Given the description of an element on the screen output the (x, y) to click on. 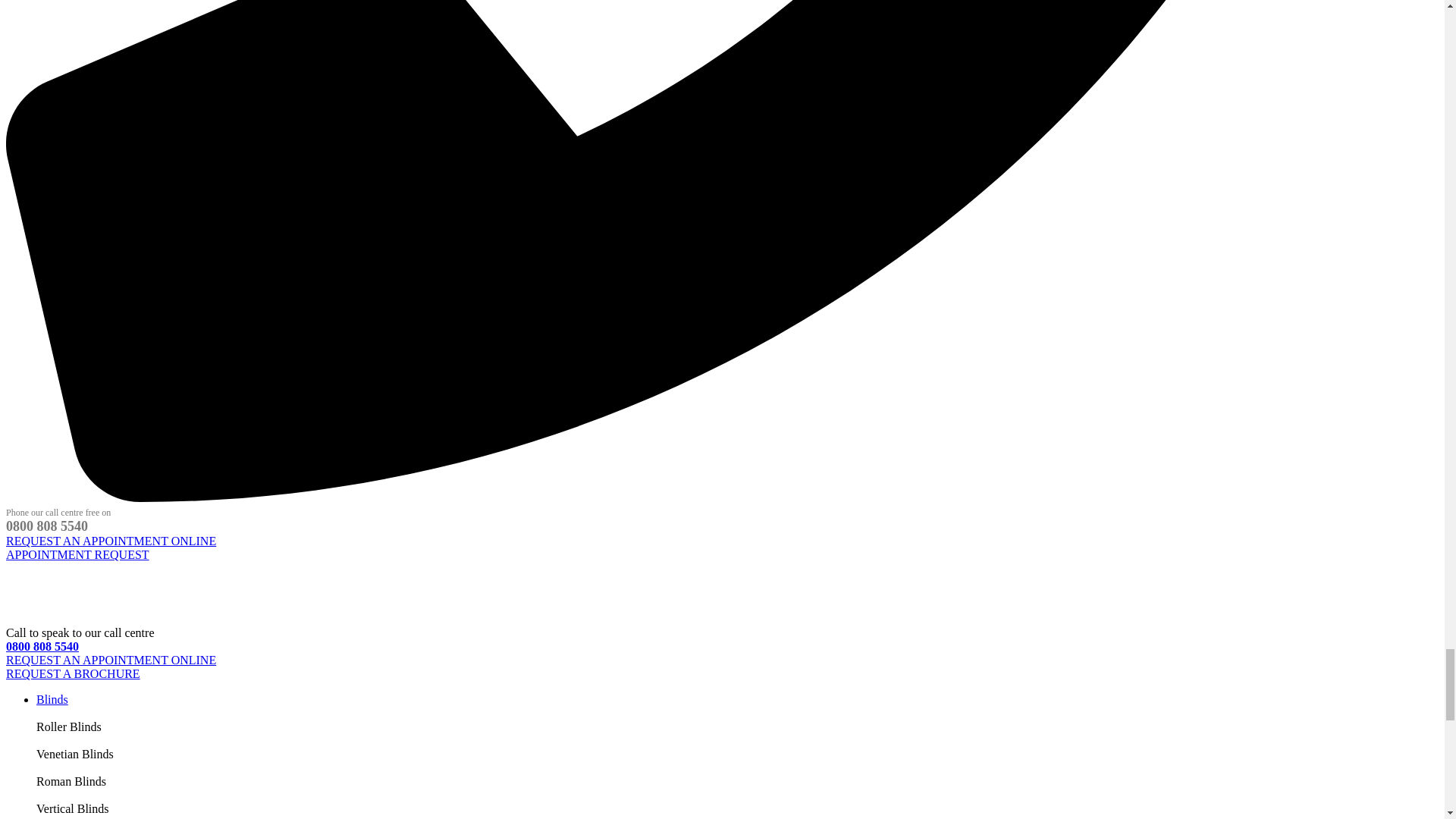
APPOINTMENT REQUEST (77, 554)
0800 808 5540 (41, 645)
REQUEST AN APPOINTMENT ONLINE (110, 540)
REQUEST AN APPOINTMENT ONLINE (110, 659)
REQUEST A BROCHURE (72, 673)
